Given the description of an element on the screen output the (x, y) to click on. 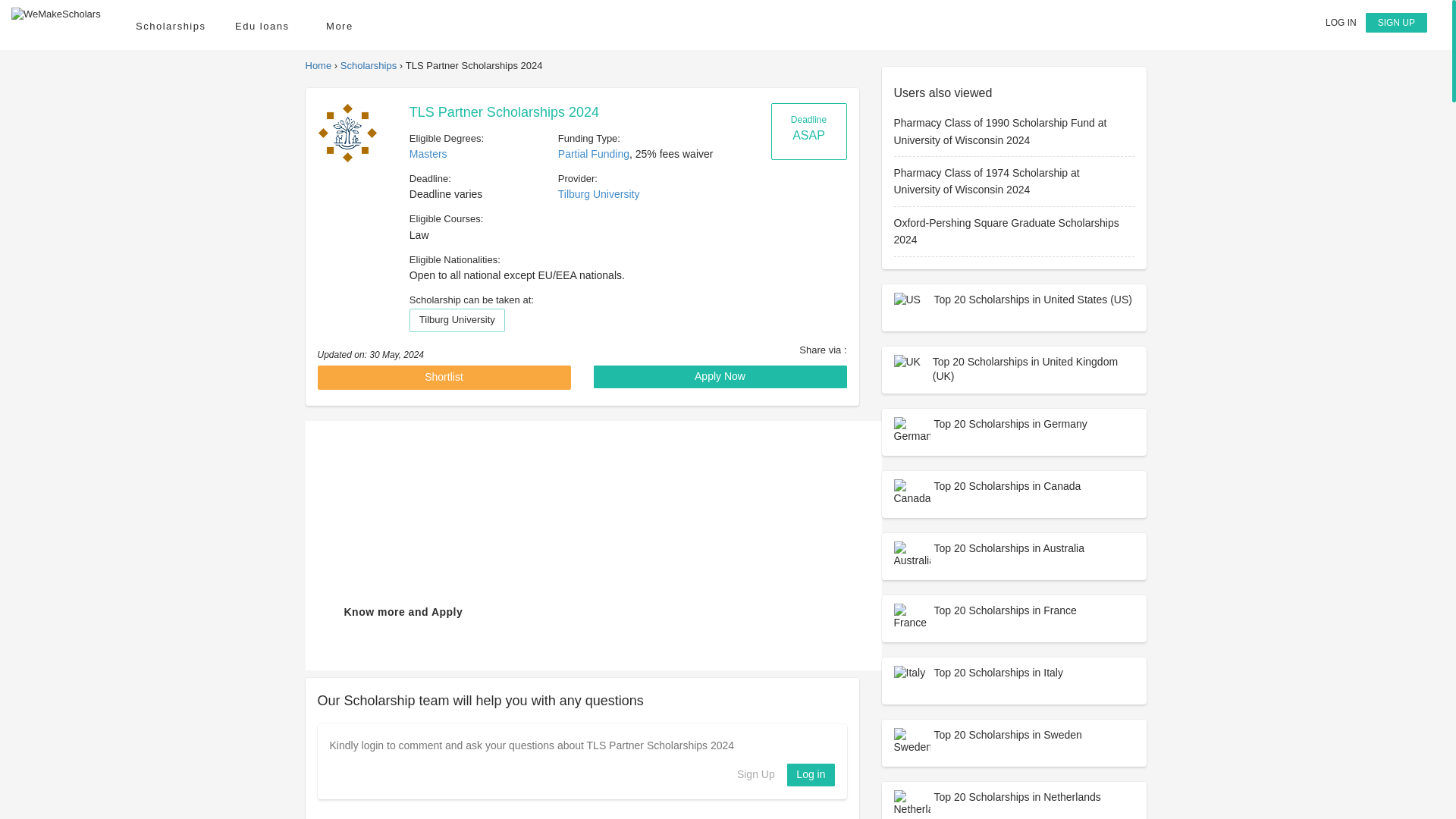
Login to view Universities, Scholarship, internship abroad (1340, 22)
SIGN UP (1395, 22)
Login to view Universities, Scholarship, internship abroad (810, 774)
Tilburg University (346, 132)
More (343, 25)
Shortlist (443, 377)
Education Loans (265, 25)
Masters Scholarships (427, 153)
Scholarships (170, 25)
